Given the description of an element on the screen output the (x, y) to click on. 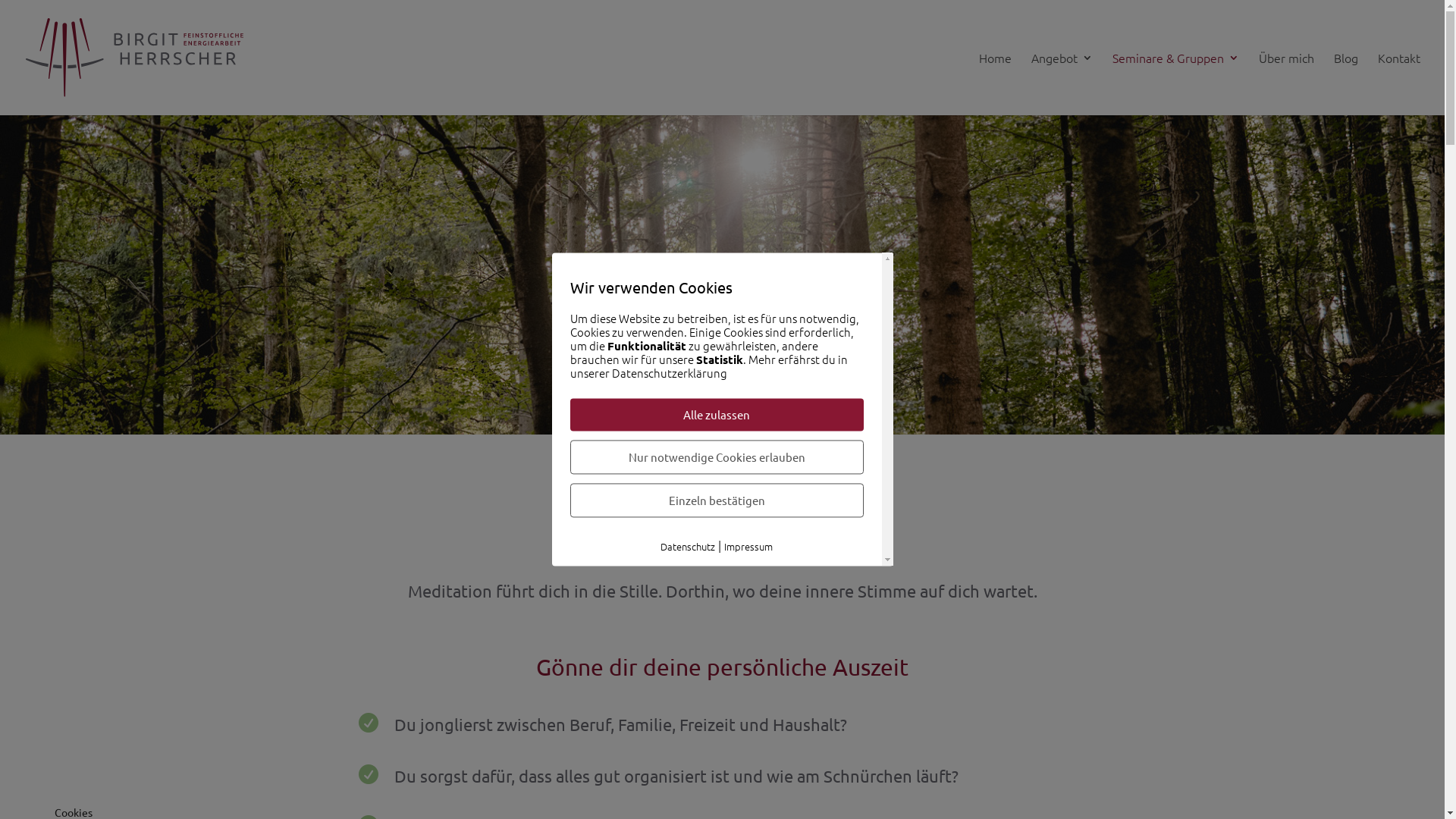
Alle zulassen Element type: text (716, 414)
Blog Element type: text (1345, 83)
Nur notwendige Cookies erlauben Element type: text (716, 456)
Seminare & Gruppen Element type: text (1175, 83)
Impressum Element type: text (748, 546)
Datenschutz Element type: text (687, 546)
Home Element type: text (995, 83)
Kontakt Element type: text (1398, 83)
Angebot Element type: text (1061, 83)
